Given the description of an element on the screen output the (x, y) to click on. 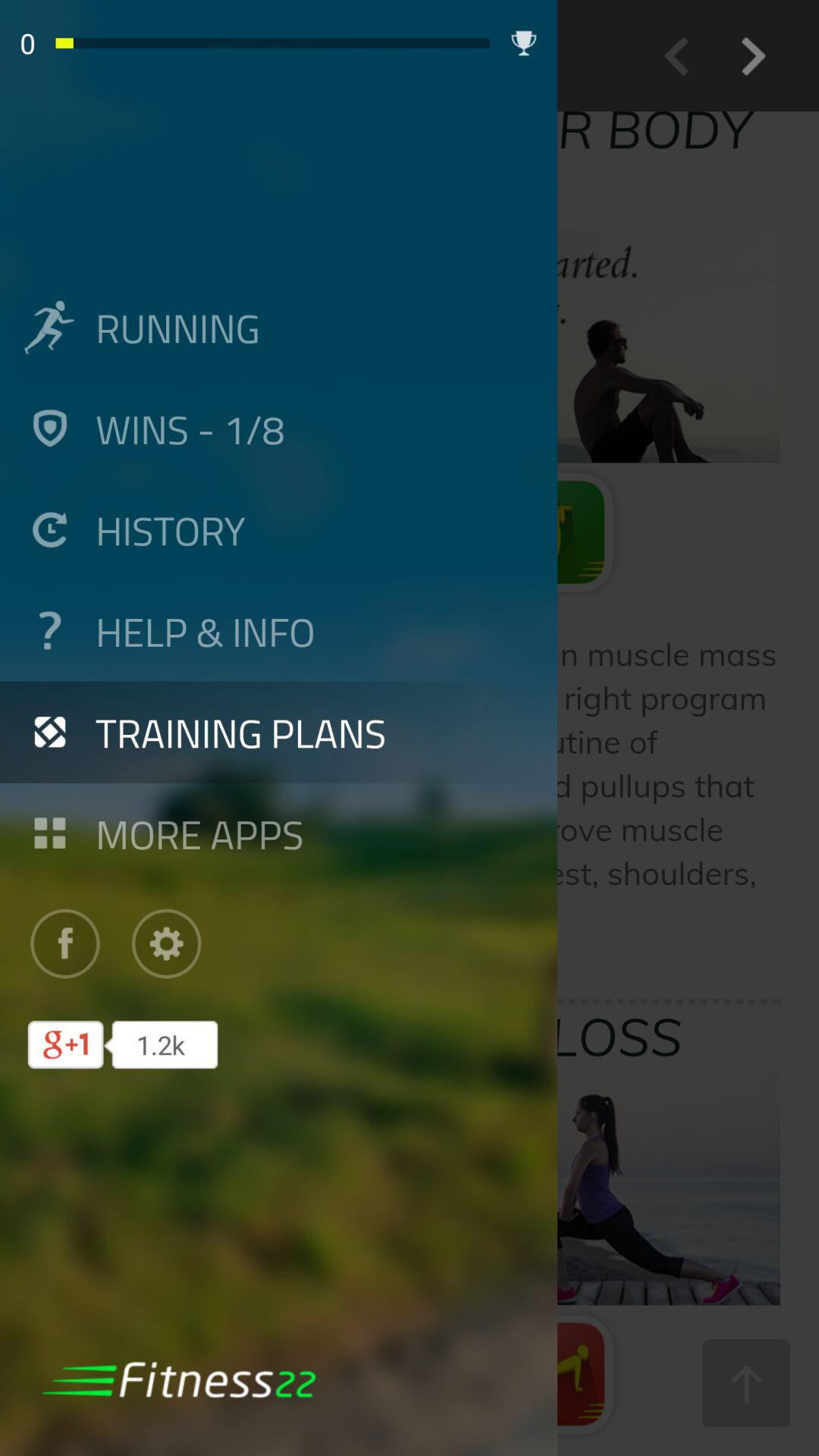
click on the history icon (49, 529)
